Given the description of an element on the screen output the (x, y) to click on. 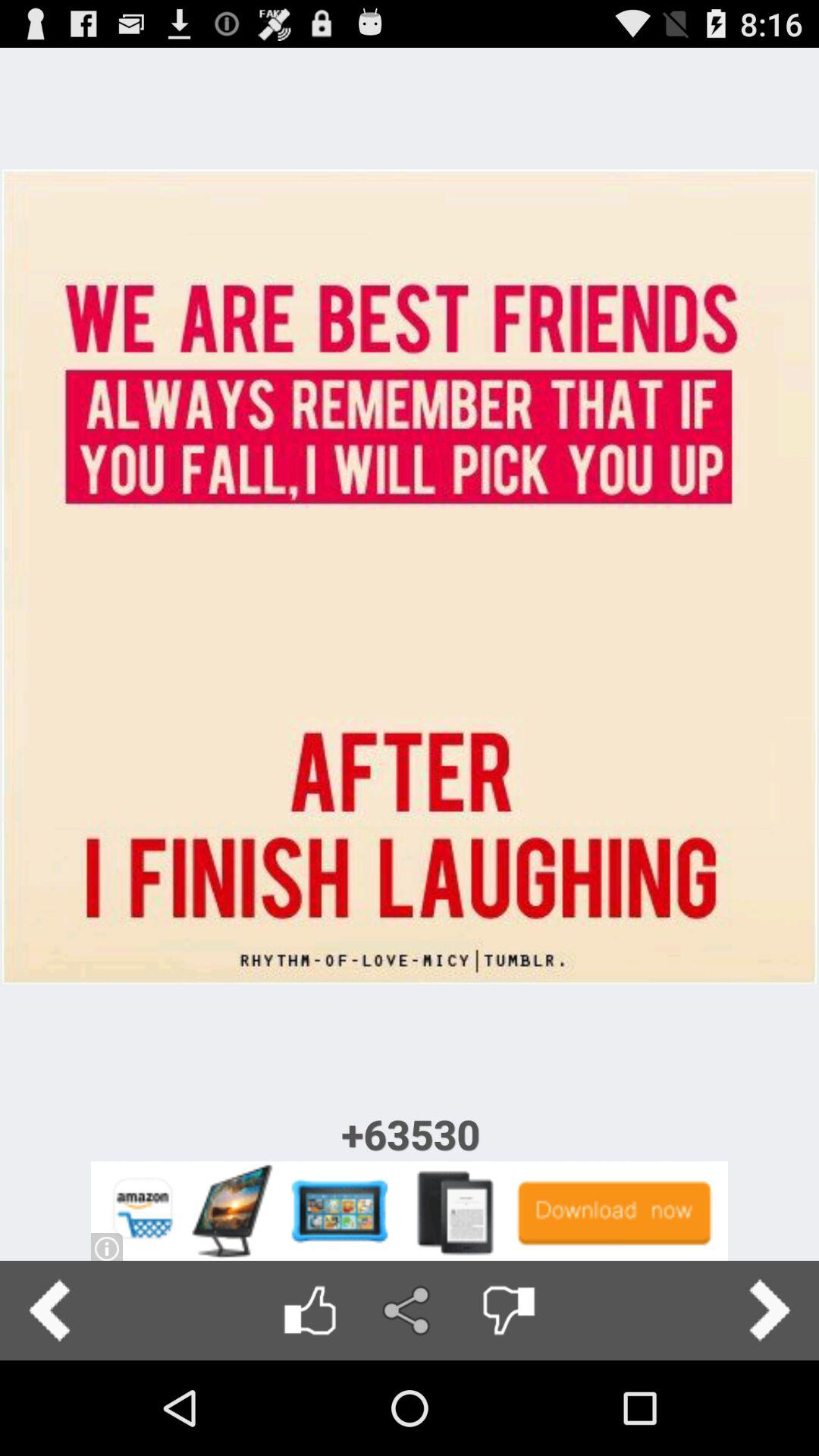
go forward (769, 1310)
